Given the description of an element on the screen output the (x, y) to click on. 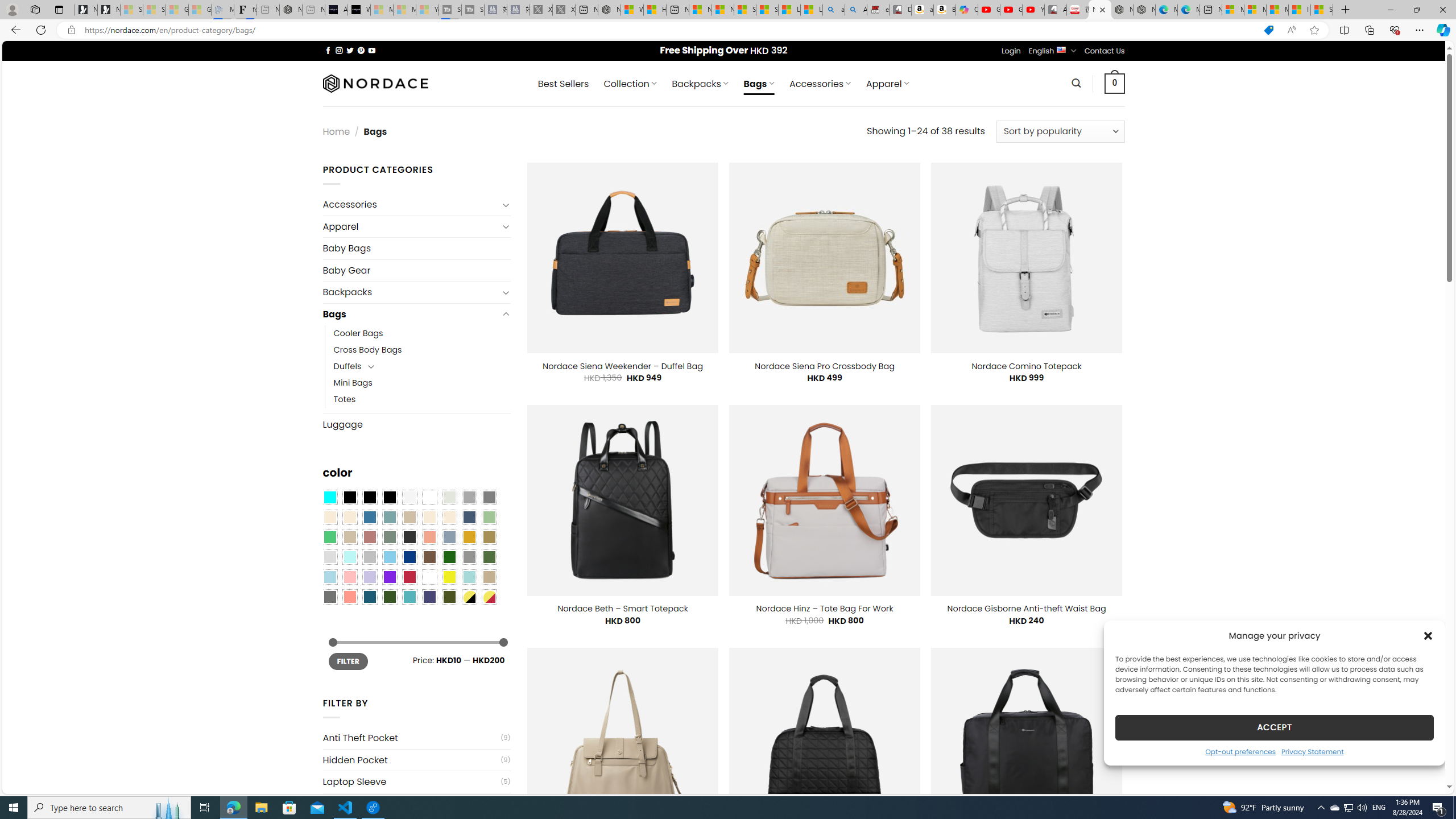
Mini Bags (352, 382)
Copilot (966, 9)
Cream (449, 517)
Dusty Blue (449, 536)
amazon.in/dp/B0CX59H5W7/?tag=gsmcom05-21 (923, 9)
Baby Bags (416, 248)
Army Green (449, 596)
All Black (349, 497)
Rose (369, 536)
Nordace - My Account (609, 9)
Baby Gear (416, 269)
View site information (70, 29)
